Given the description of an element on the screen output the (x, y) to click on. 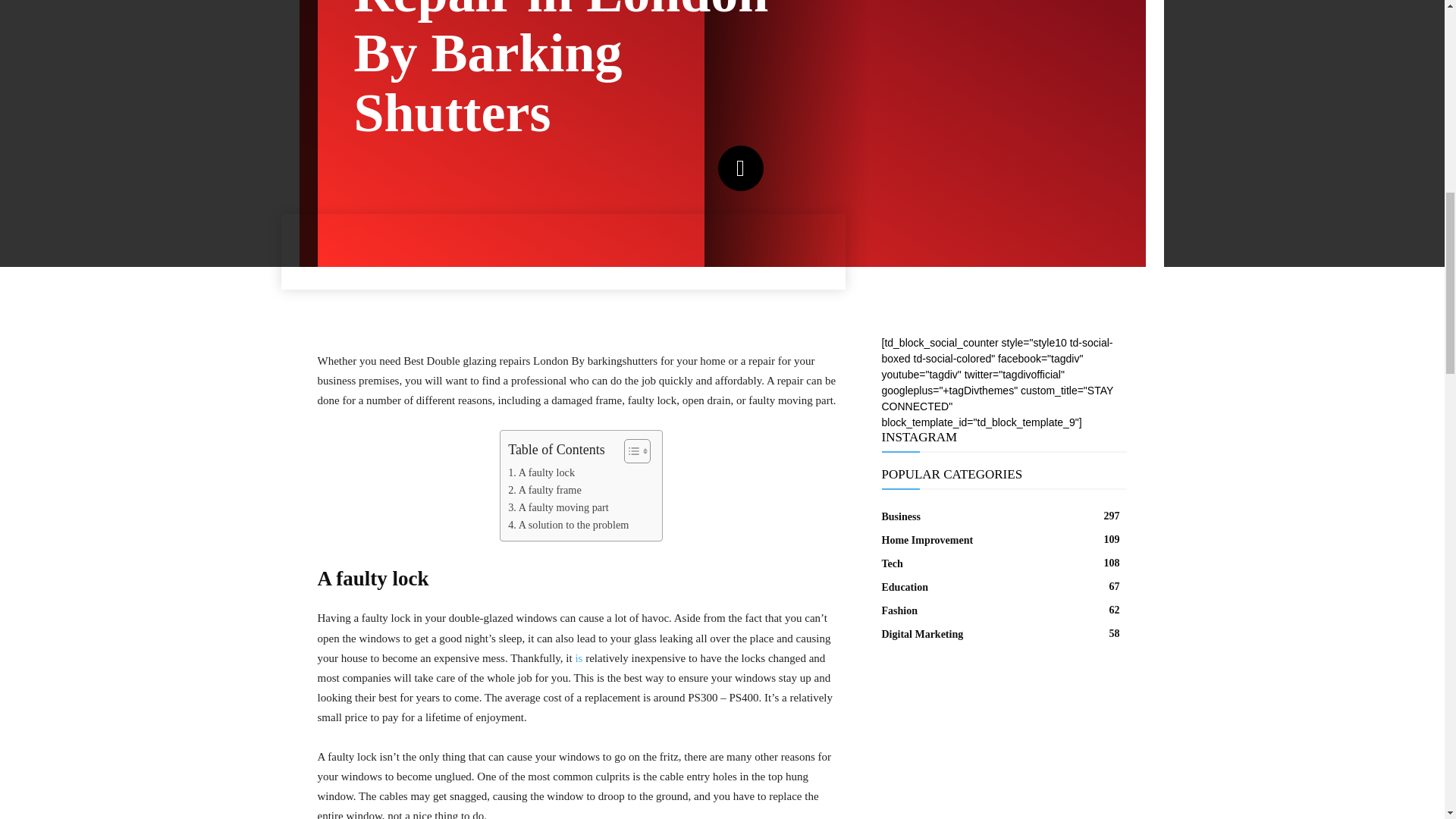
A faulty moving part (558, 507)
A faulty frame (544, 489)
A faulty lock (541, 472)
A solution to the problem (568, 524)
